Given the description of an element on the screen output the (x, y) to click on. 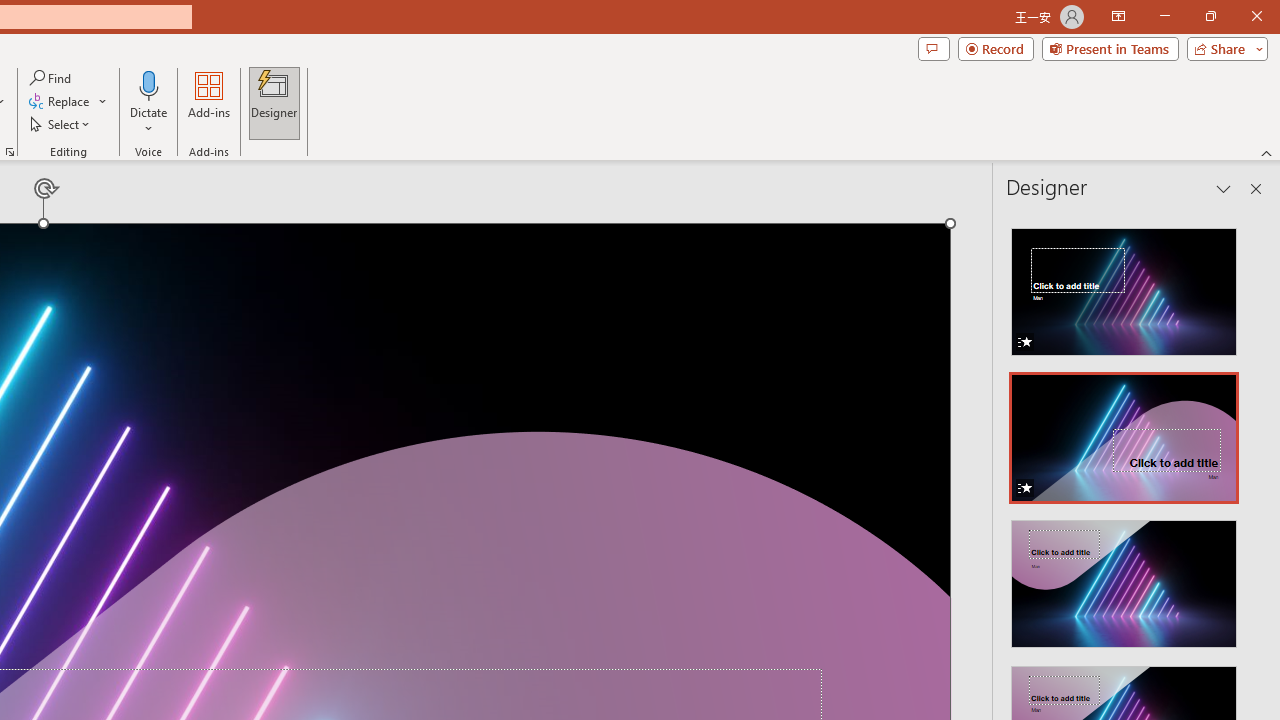
Recommended Design: Animation (1124, 286)
